Given the description of an element on the screen output the (x, y) to click on. 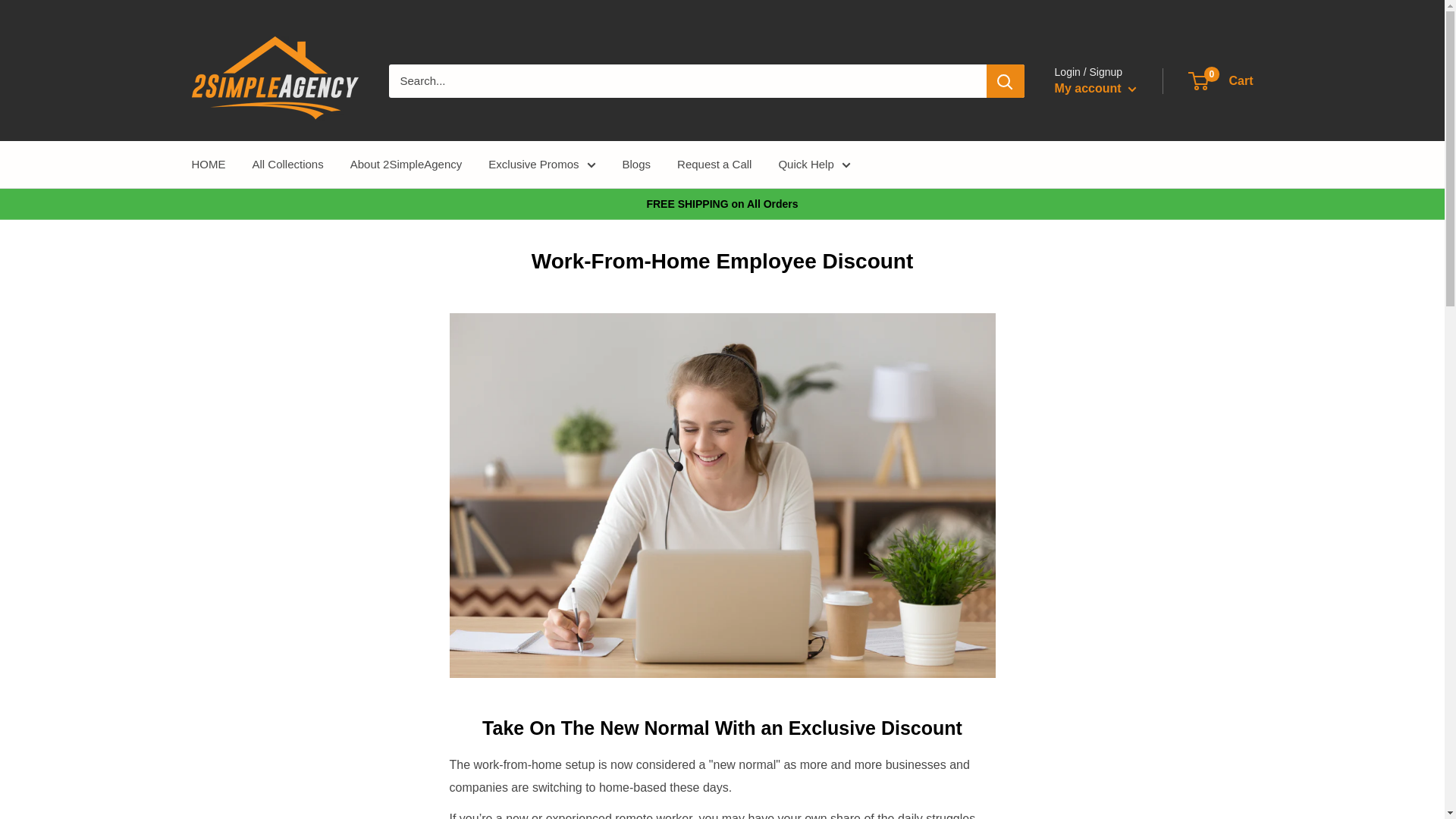
Exclusive Promos (541, 164)
HOME (207, 164)
About 2SimpleAgency (406, 164)
All Collections (1220, 80)
My account (287, 164)
